Given the description of an element on the screen output the (x, y) to click on. 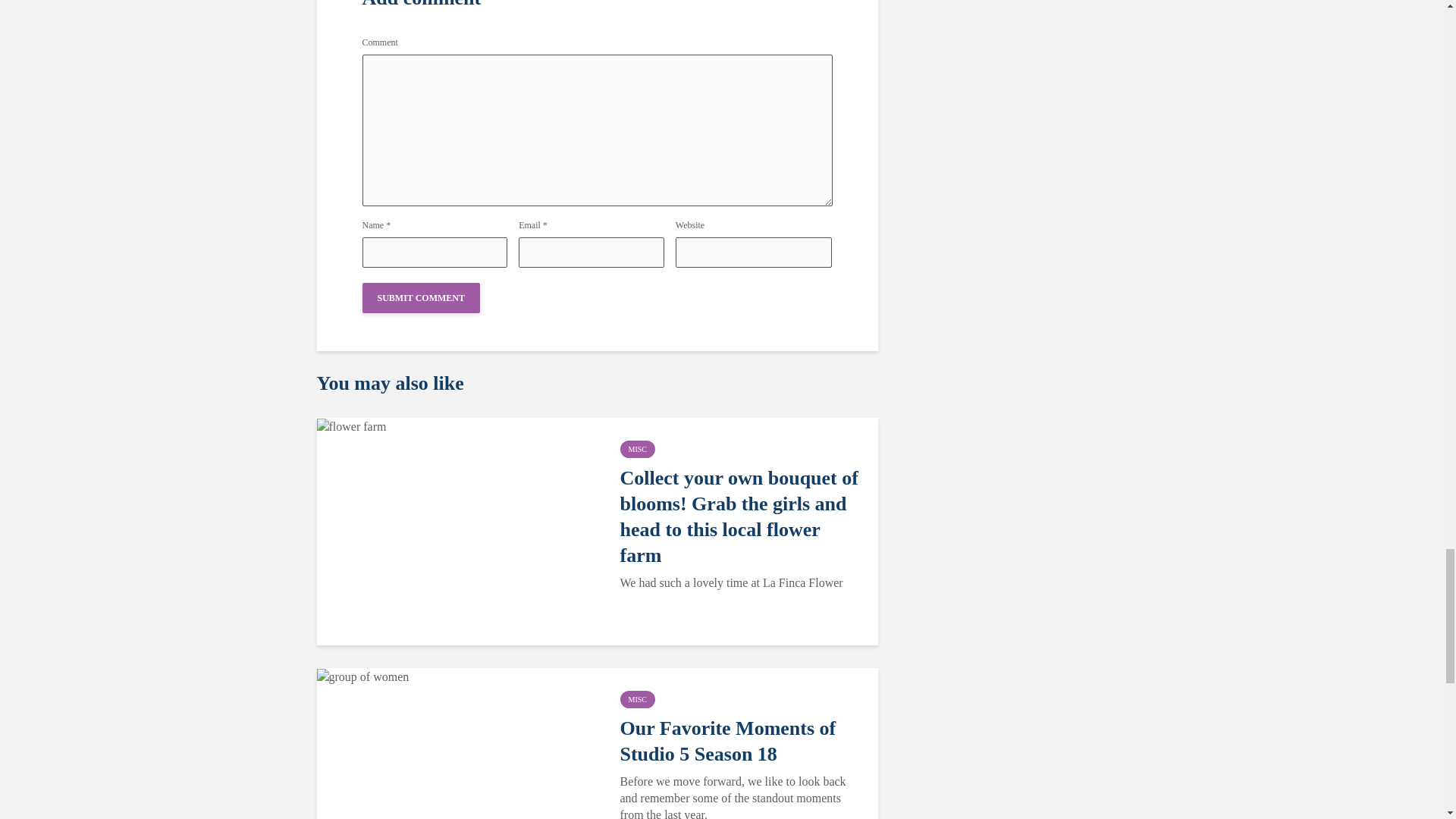
Our Favorite Moments of Studio 5 Season 18 (363, 675)
Submit Comment (421, 297)
Our Favorite Moments of Studio 5 Season 18 (740, 741)
MISC (637, 448)
Submit Comment (421, 297)
MISC (637, 699)
